Given the description of an element on the screen output the (x, y) to click on. 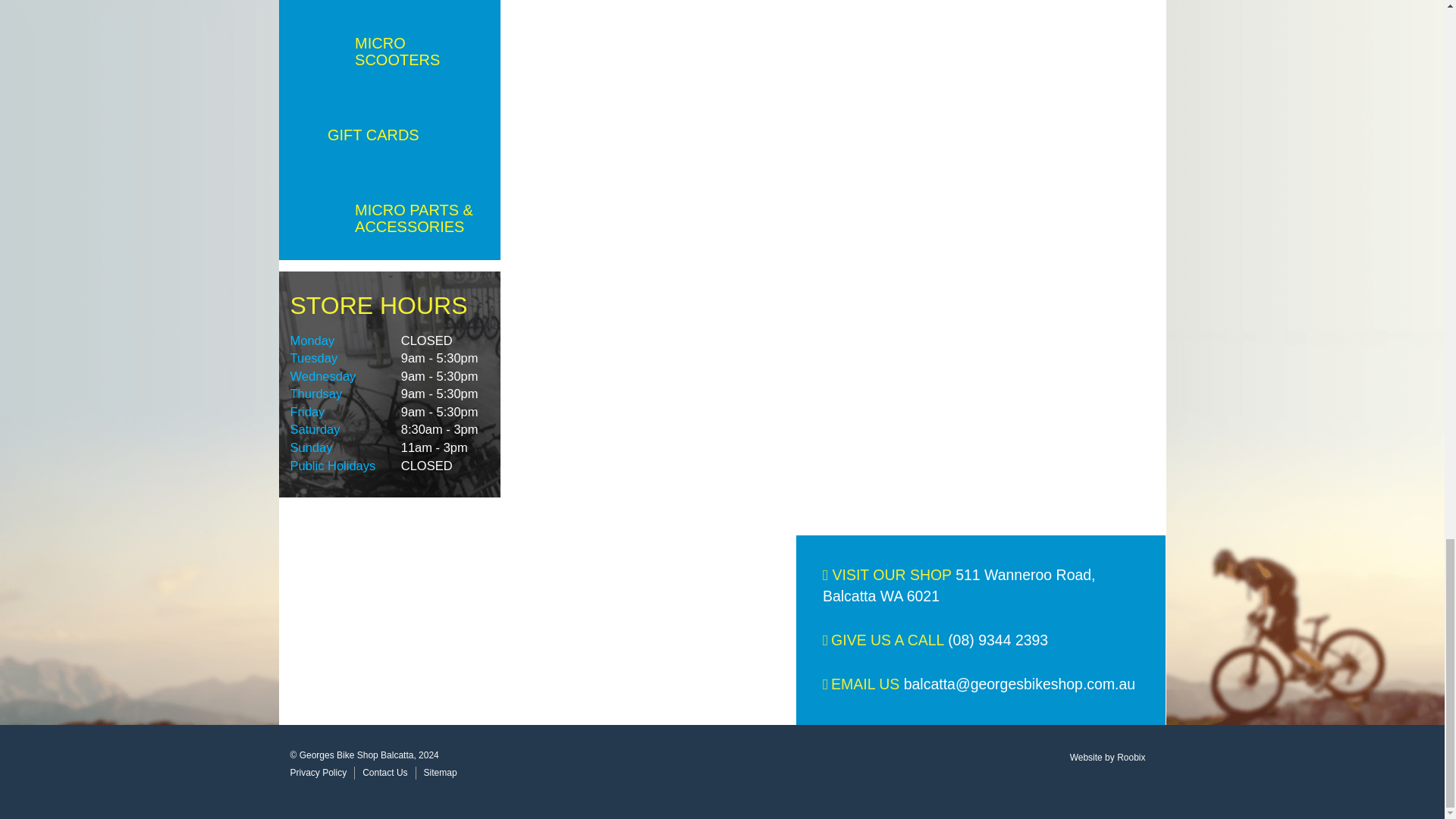
Bicycle Components in Perth (389, 4)
